Given the description of an element on the screen output the (x, y) to click on. 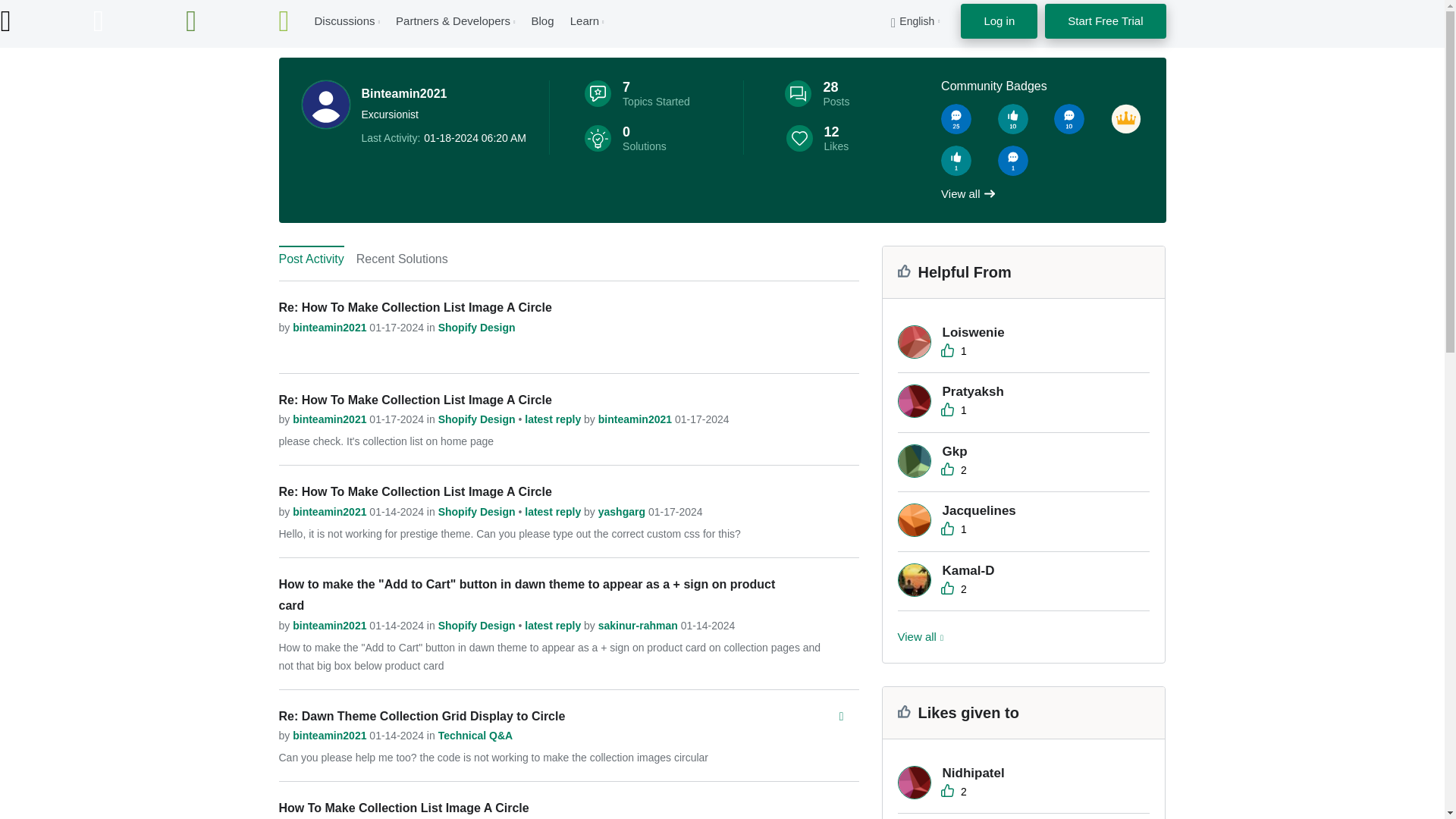
View profile (330, 327)
25 Posts (955, 119)
Original Member (1125, 119)
binteamin2021 (325, 104)
1st Post (1012, 160)
Discussions (344, 20)
10 Posts (1069, 119)
10 Likes (1012, 119)
1st Like (955, 160)
